Given the description of an element on the screen output the (x, y) to click on. 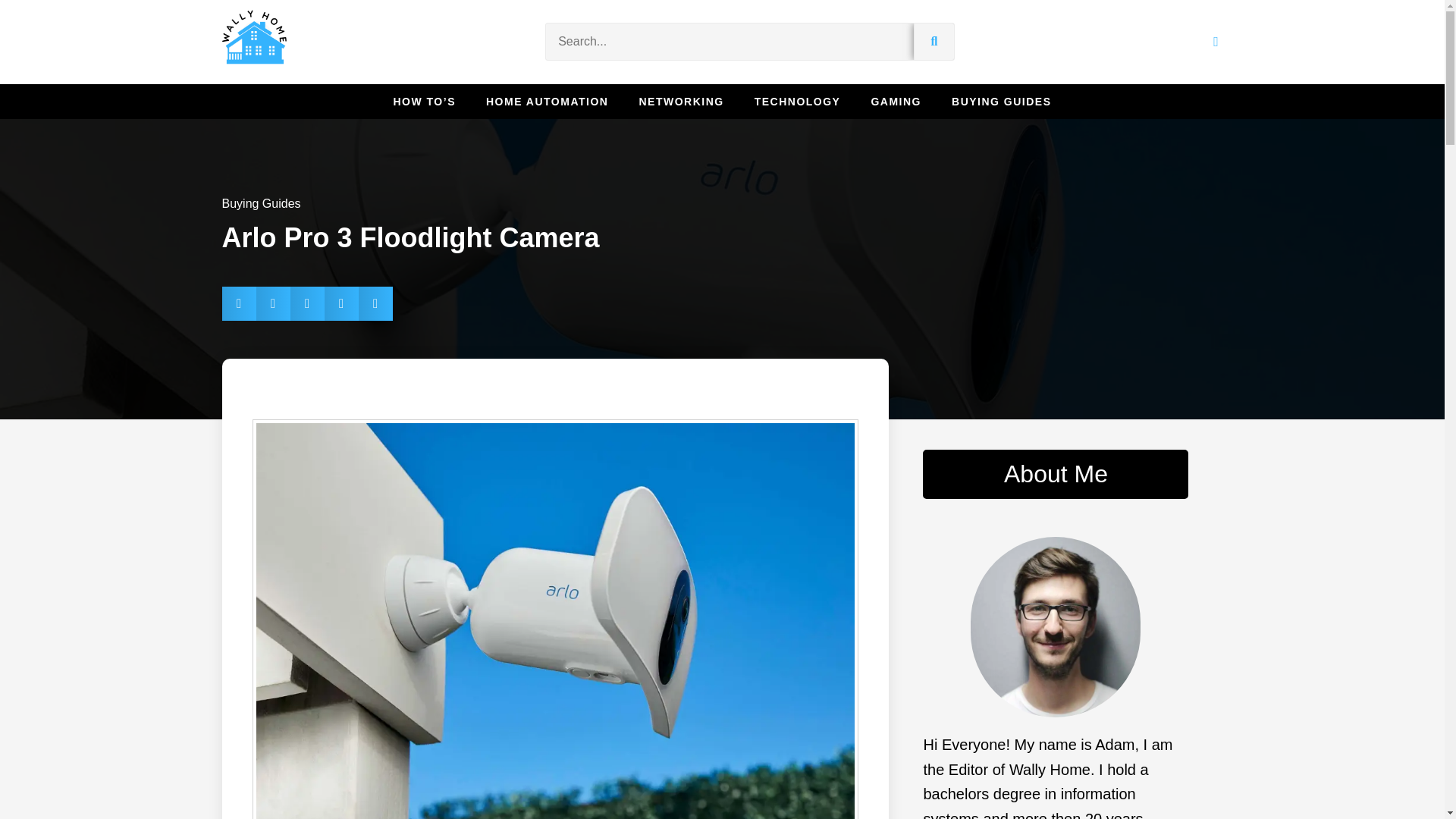
GAMING (895, 101)
BUYING GUIDES (1001, 101)
Buying Guides (260, 203)
HOME AUTOMATION (547, 101)
TECHNOLOGY (797, 101)
NETWORKING (681, 101)
